Given the description of an element on the screen output the (x, y) to click on. 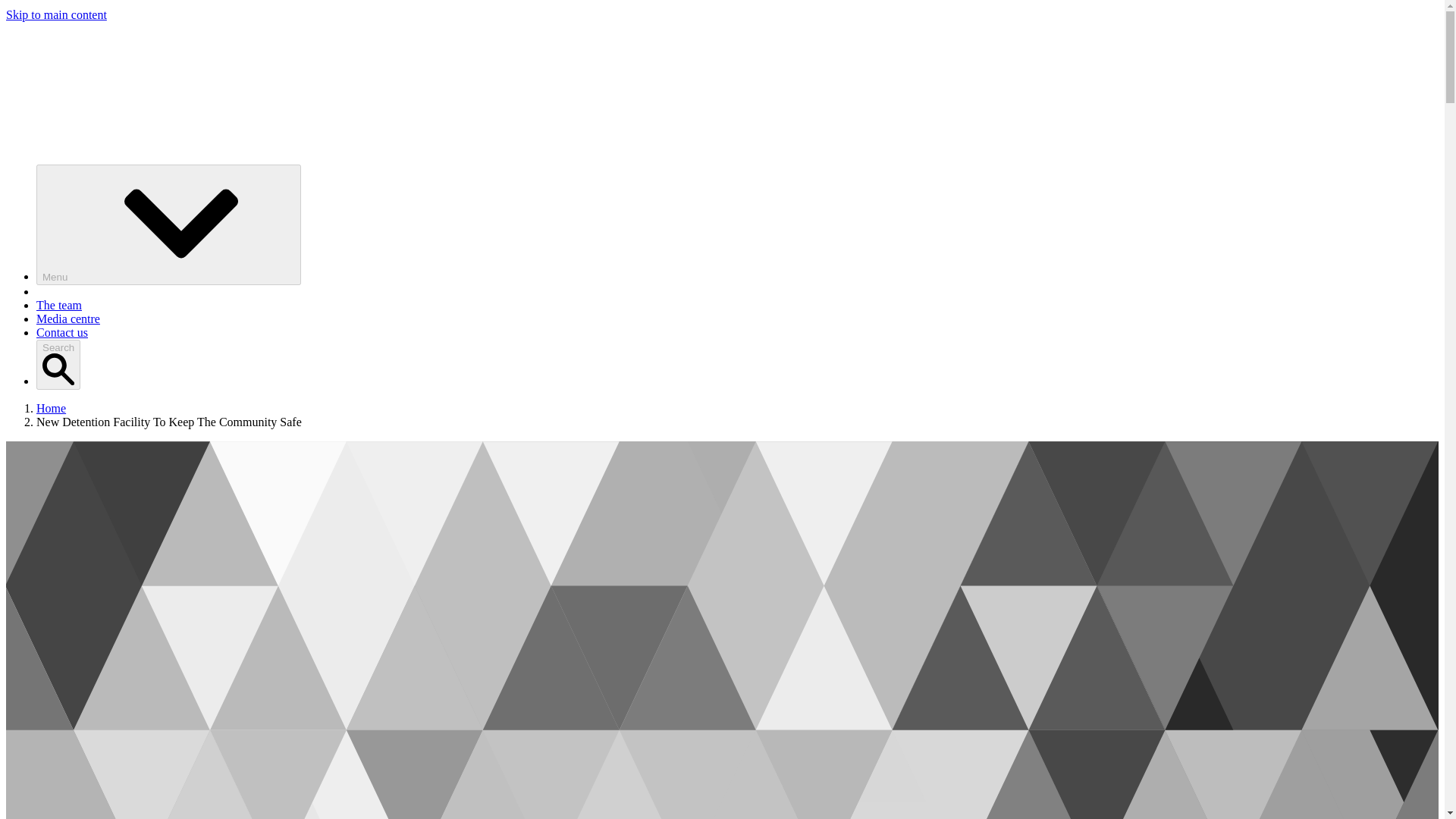
The team (58, 305)
Skip to main content (55, 14)
Media centre (68, 318)
Contact us (61, 332)
Home (50, 408)
